Given the description of an element on the screen output the (x, y) to click on. 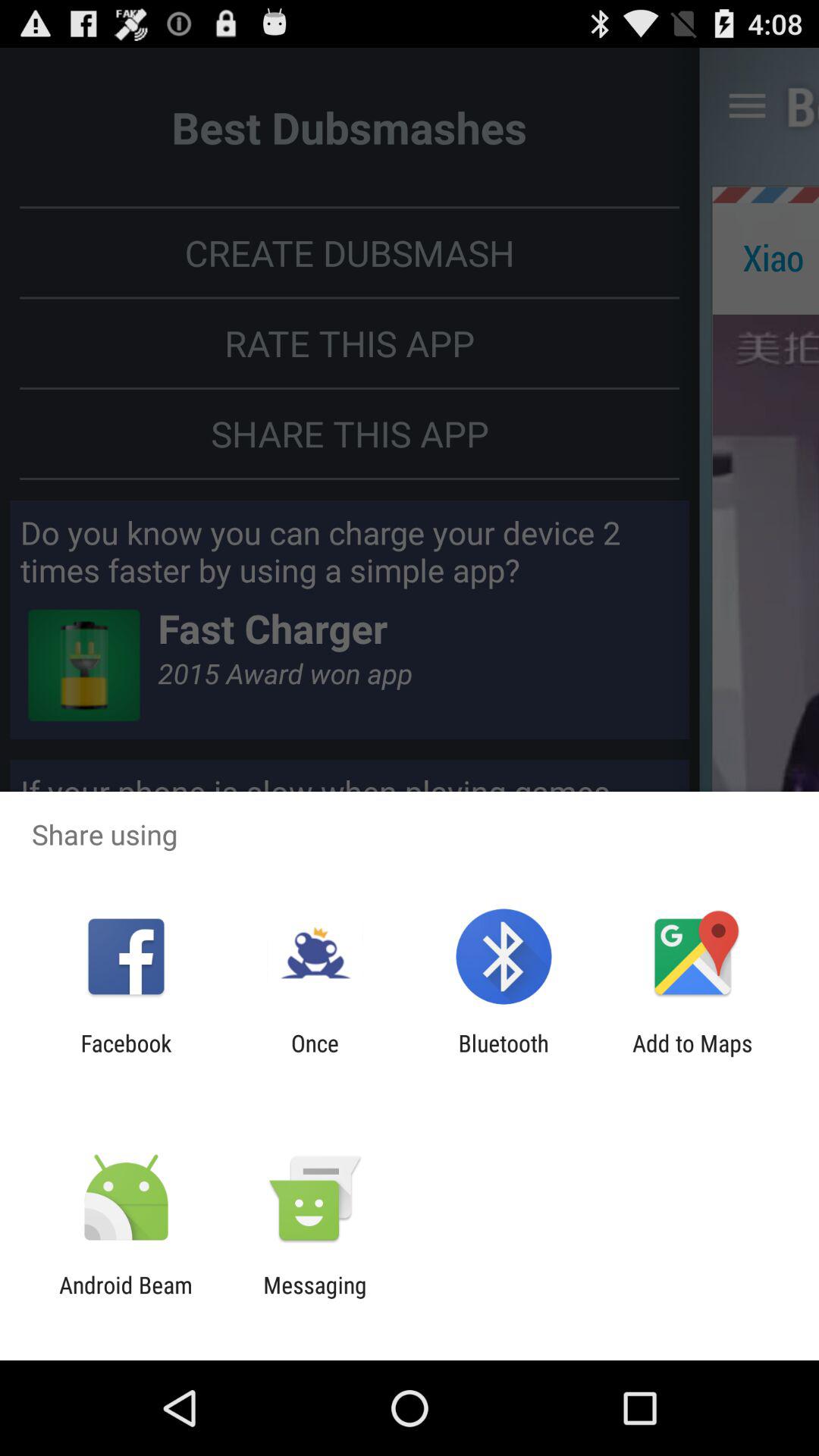
tap the app to the right of the bluetooth (692, 1056)
